Given the description of an element on the screen output the (x, y) to click on. 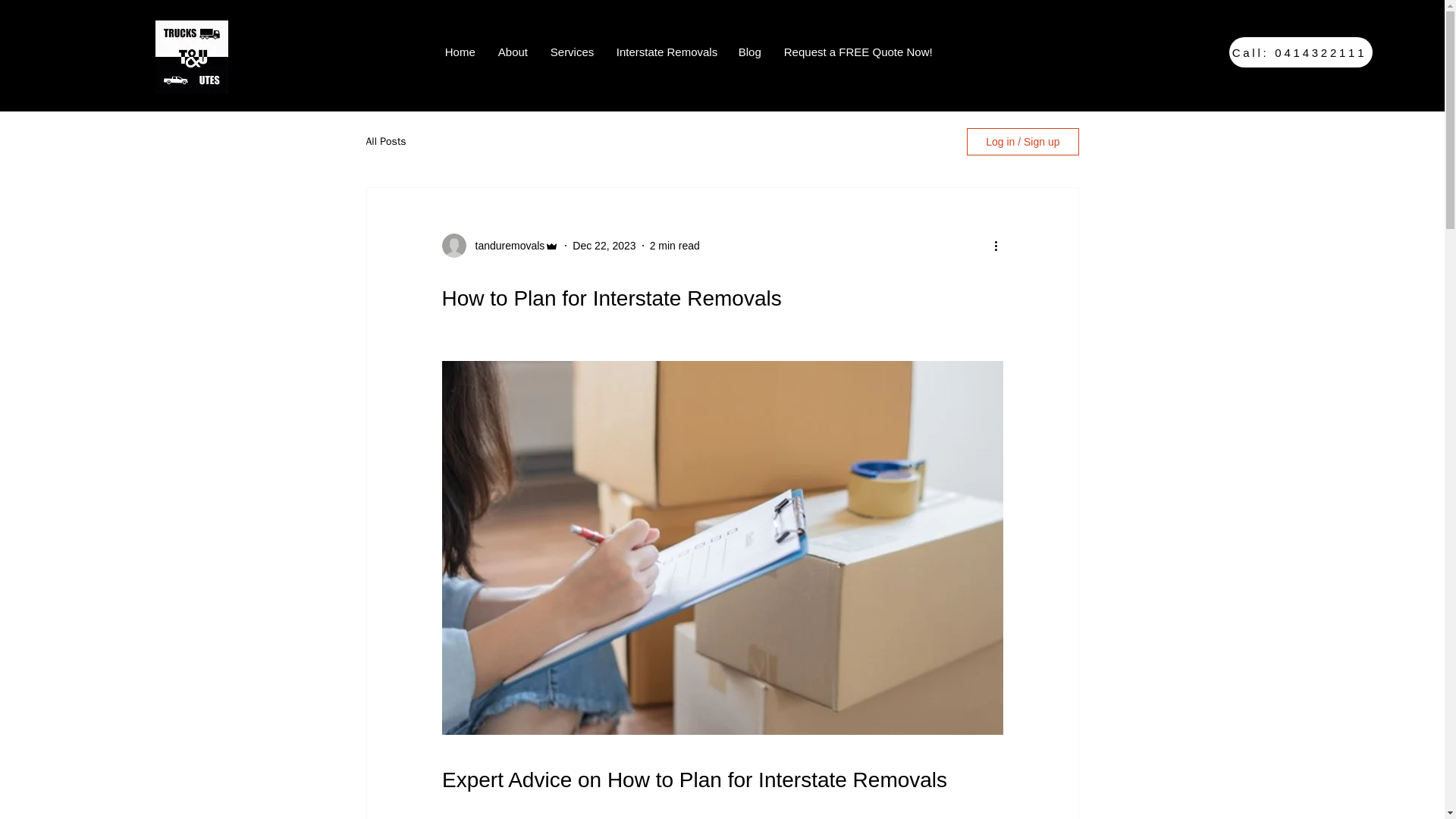
Request a FREE Quote Now! (856, 52)
Interstate Removals (665, 52)
2 min read (674, 245)
About (512, 52)
Services (571, 52)
Home (459, 52)
Blog (749, 52)
tanduremovals (504, 245)
Dec 22, 2023 (603, 245)
All Posts (385, 141)
